Given the description of an element on the screen output the (x, y) to click on. 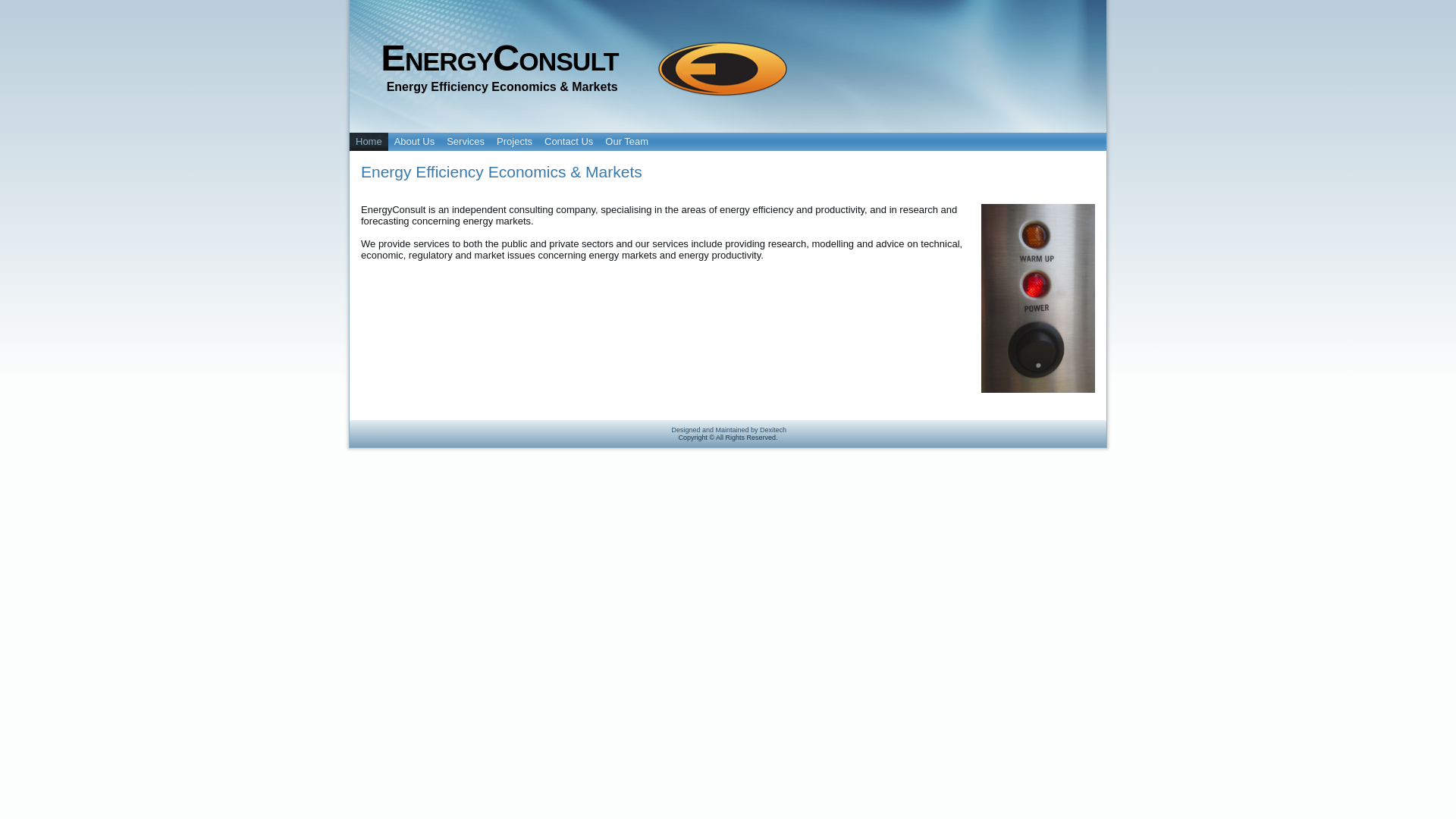
About Us Element type: text (414, 141)
Energy Efficiency Economics & Markets Element type: text (501, 171)
EnergyConsult Element type: text (499, 57)
Designed and Maintained by Dexitech Element type: text (728, 429)
Services Element type: text (465, 141)
Contact Us Element type: text (568, 141)
Projects Element type: text (514, 141)
Our Team Element type: text (626, 141)
Home Element type: text (368, 141)
